Given the description of an element on the screen output the (x, y) to click on. 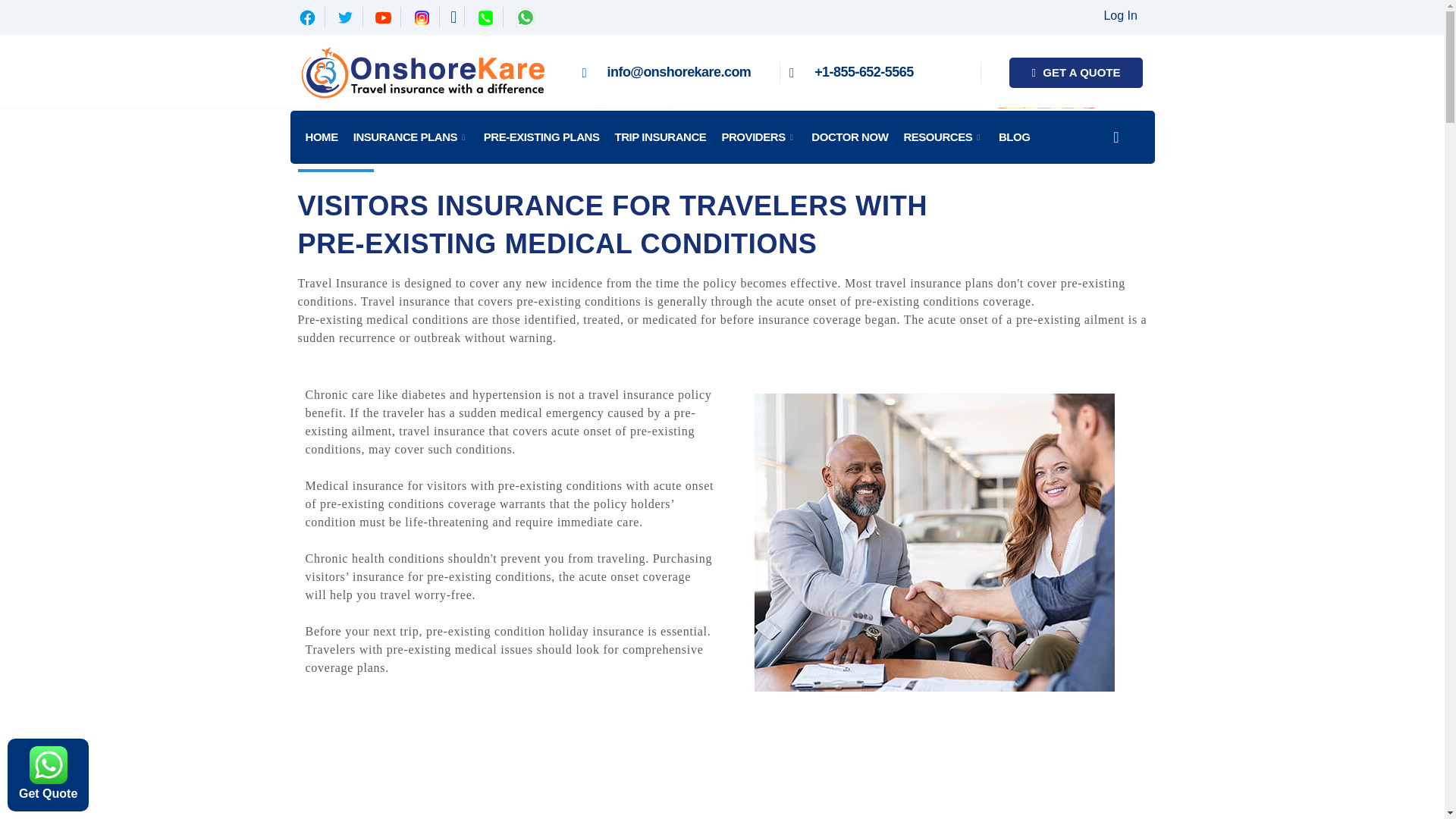
Log In (1120, 15)
TRIP INSURANCE (660, 136)
PRE-EXISTING PLANS (541, 136)
RESOURCES (943, 136)
INSURANCE PLANS (411, 136)
WhatsApp us (47, 764)
HOME (321, 136)
DOCTOR NOW (849, 136)
PROVIDERS (758, 136)
GET A QUOTE (1075, 72)
